Given the description of an element on the screen output the (x, y) to click on. 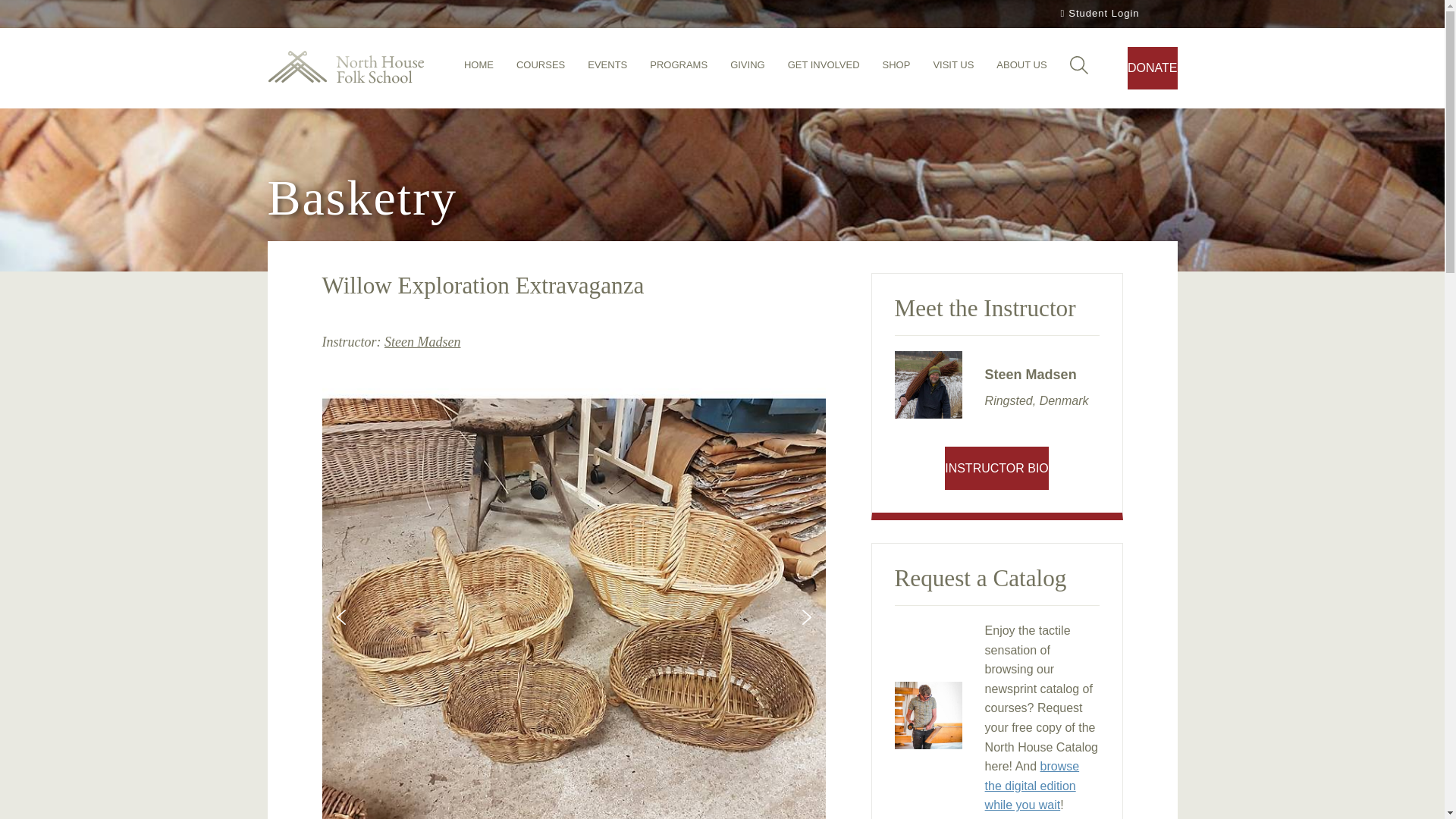
HOME (478, 69)
SHOP (896, 69)
Student Login (1098, 13)
View Bio for Steen Madsen (422, 341)
EVENTS (607, 69)
GIVING (747, 69)
VISIT US (953, 69)
PROGRAMS (678, 69)
North House Folk School (344, 67)
GET INVOLVED (823, 69)
